Given the description of an element on the screen output the (x, y) to click on. 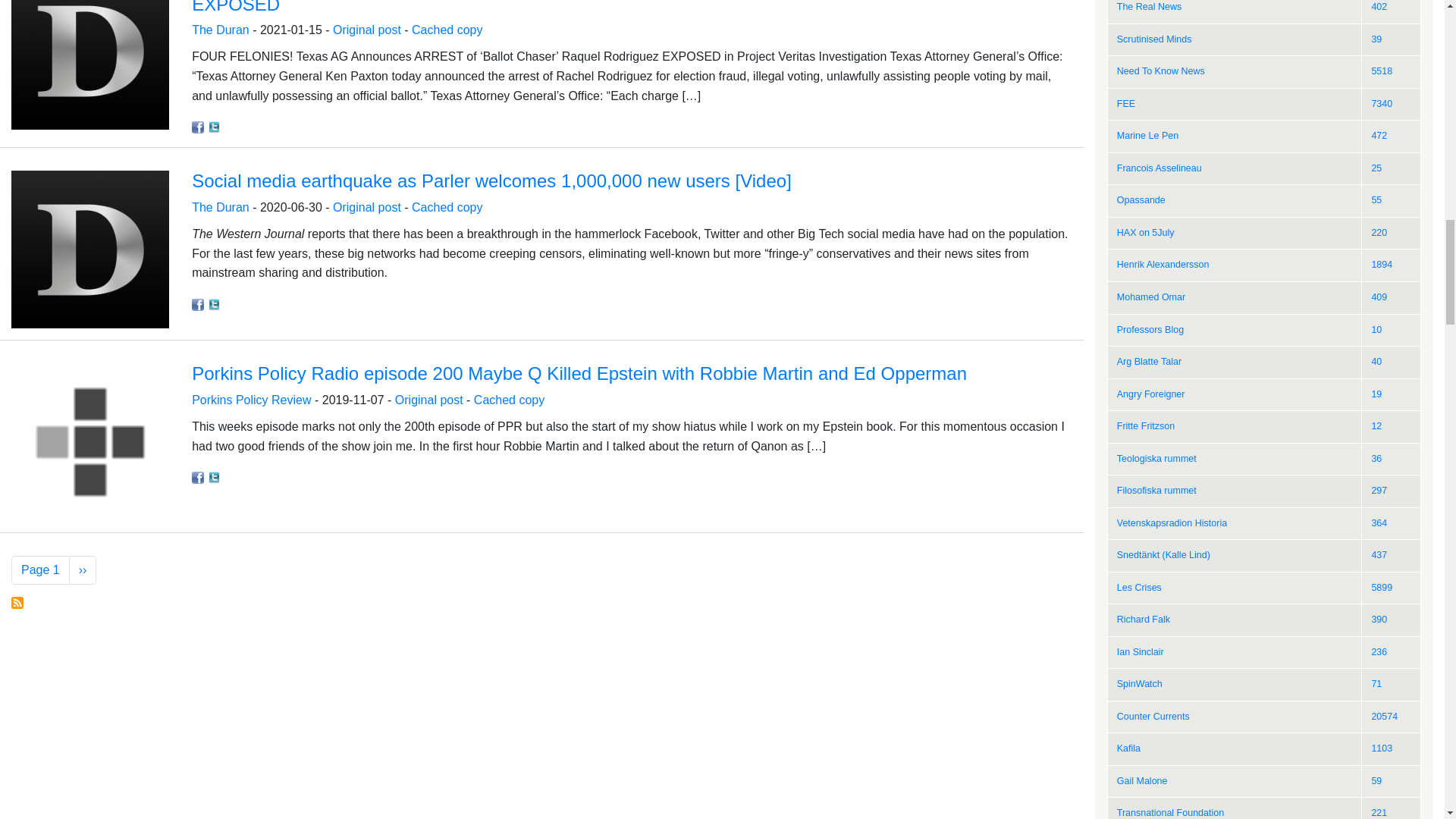
Go to next page (82, 570)
